Given the description of an element on the screen output the (x, y) to click on. 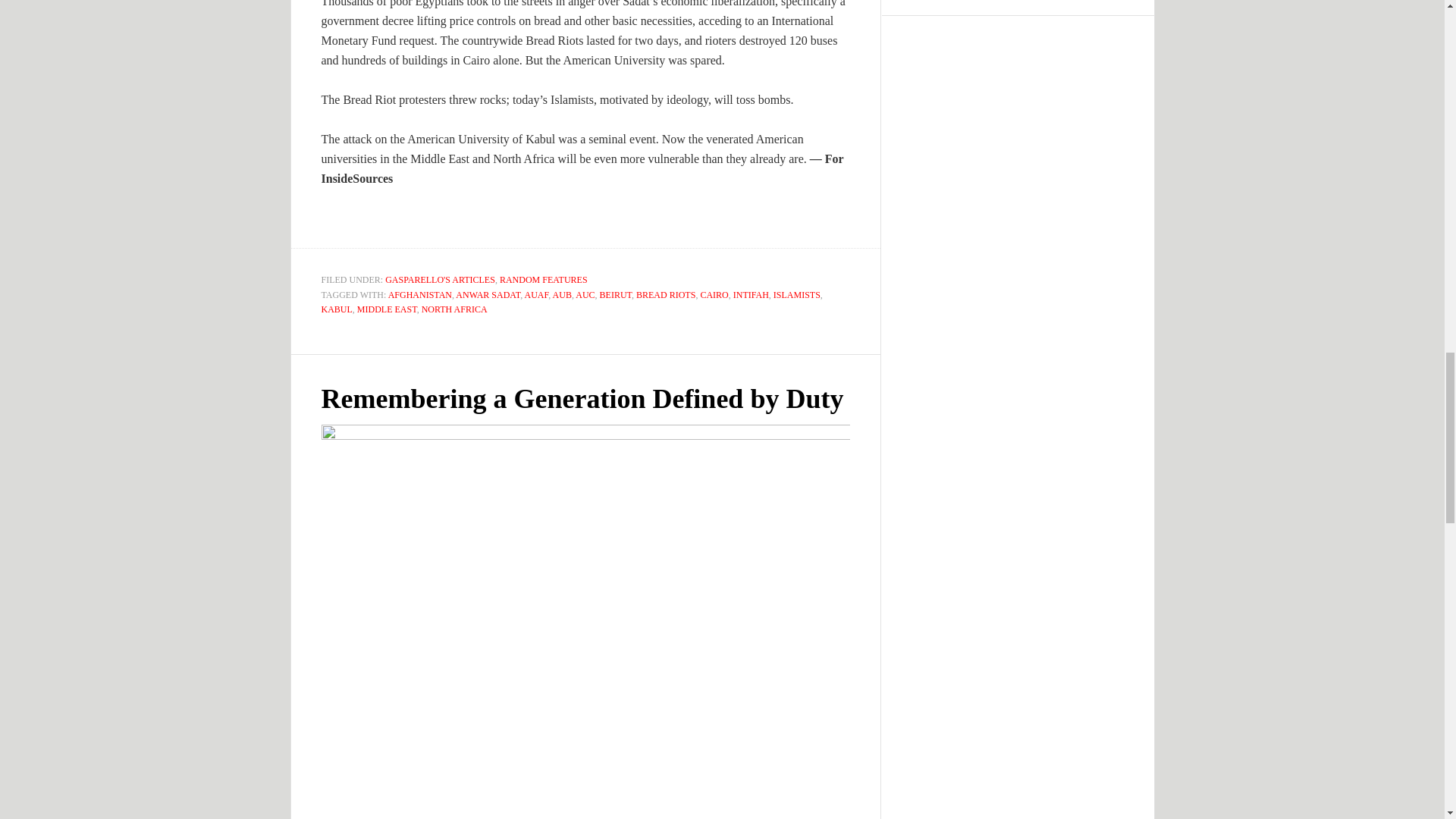
CAIRO (714, 294)
RANDOM FEATURES (543, 279)
ANWAR SADAT (487, 294)
BEIRUT (615, 294)
AUB (562, 294)
NORTH AFRICA (454, 308)
GASPARELLO'S ARTICLES (440, 279)
MIDDLE EAST (386, 308)
INTIFAH (750, 294)
AUC (584, 294)
ISLAMISTS (797, 294)
BREAD RIOTS (665, 294)
AUAF (536, 294)
AFGHANISTAN (419, 294)
KABUL (336, 308)
